Given the description of an element on the screen output the (x, y) to click on. 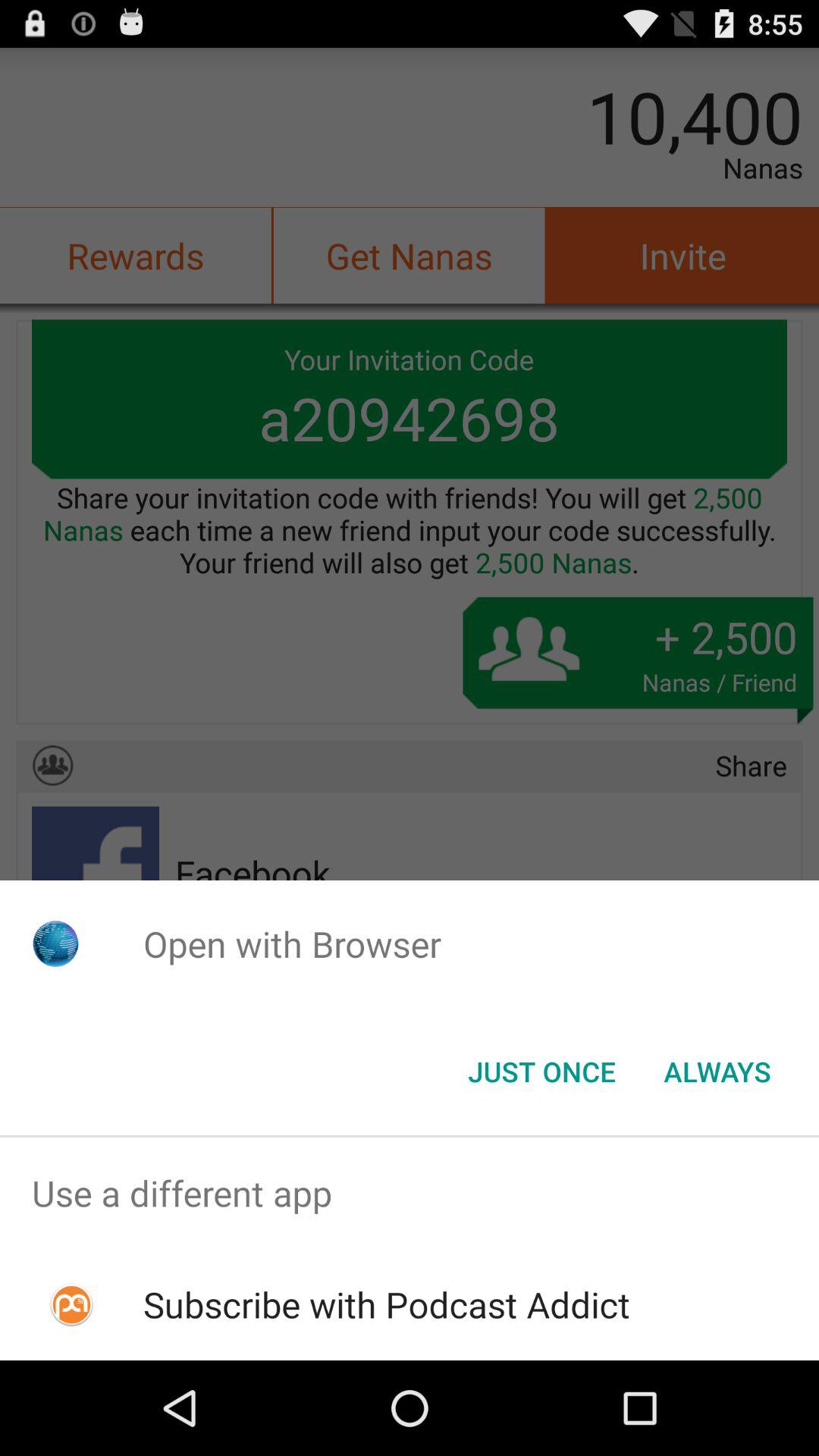
choose the button to the right of just once item (717, 1071)
